Given the description of an element on the screen output the (x, y) to click on. 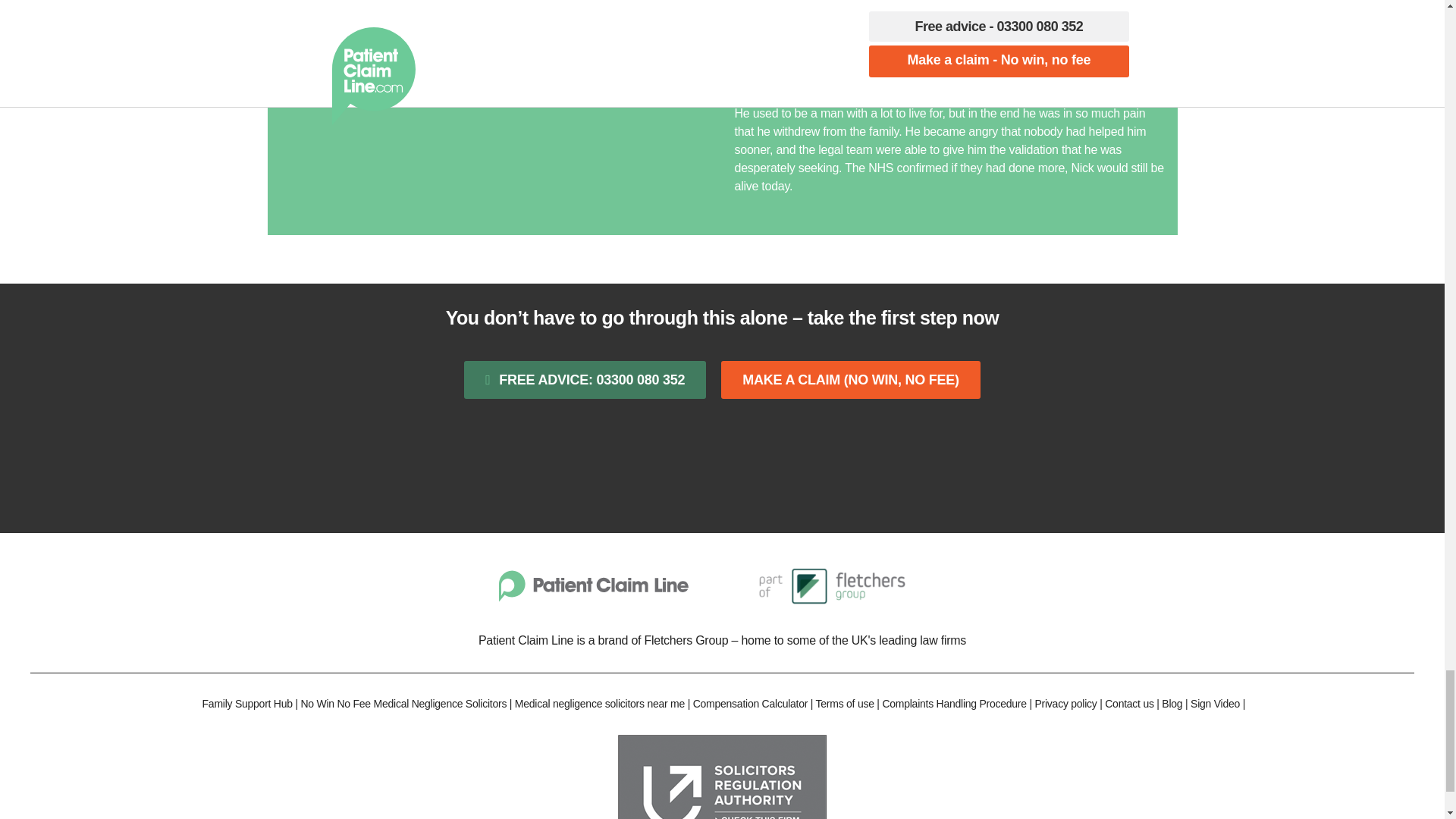
Medical negligence solicitors near me (599, 703)
No Win No Fee Medical Negligence Solicitors (402, 703)
Family Support Hub (247, 703)
Customer reviews powered by Trustpilot (721, 466)
FREE ADVICE: 03300 080 352 (585, 380)
